Given the description of an element on the screen output the (x, y) to click on. 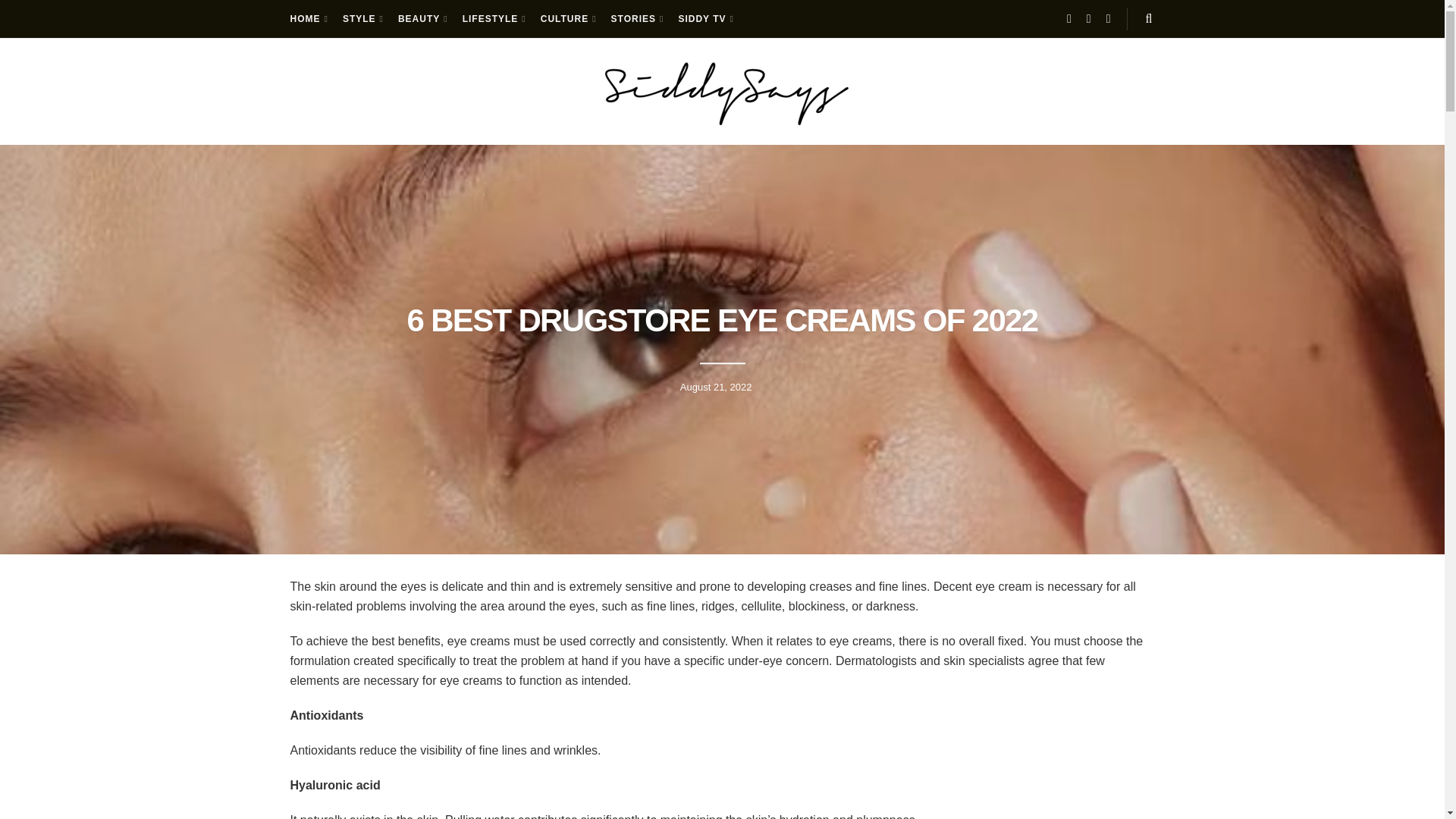
STYLE (361, 18)
CULTURE (567, 18)
STORIES (636, 18)
HOME (306, 18)
BEAUTY (421, 18)
LIFESTYLE (493, 18)
SIDDY TV (705, 18)
